Given the description of an element on the screen output the (x, y) to click on. 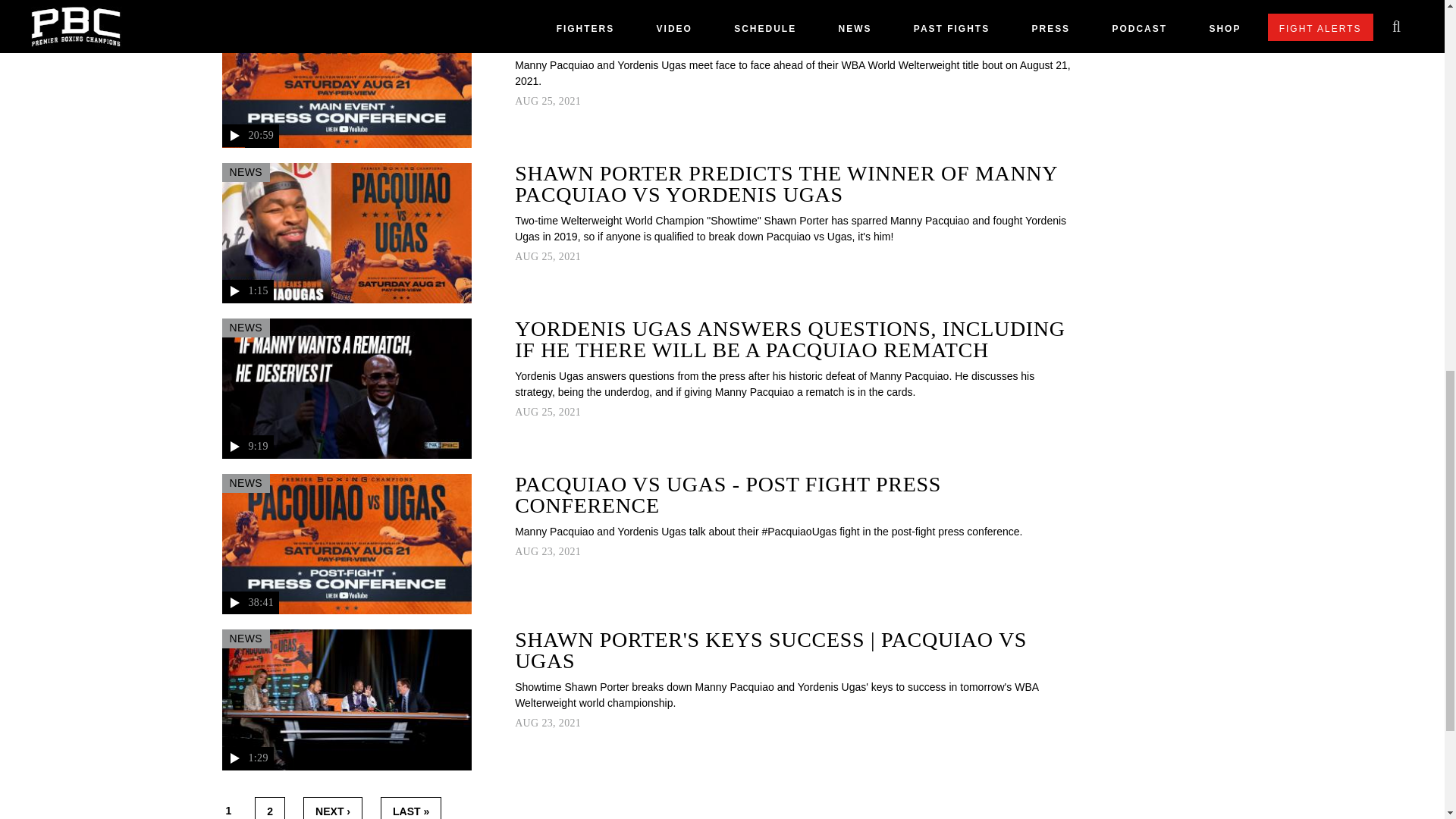
August (526, 551)
August (526, 101)
August (526, 256)
August (526, 411)
